Given the description of an element on the screen output the (x, y) to click on. 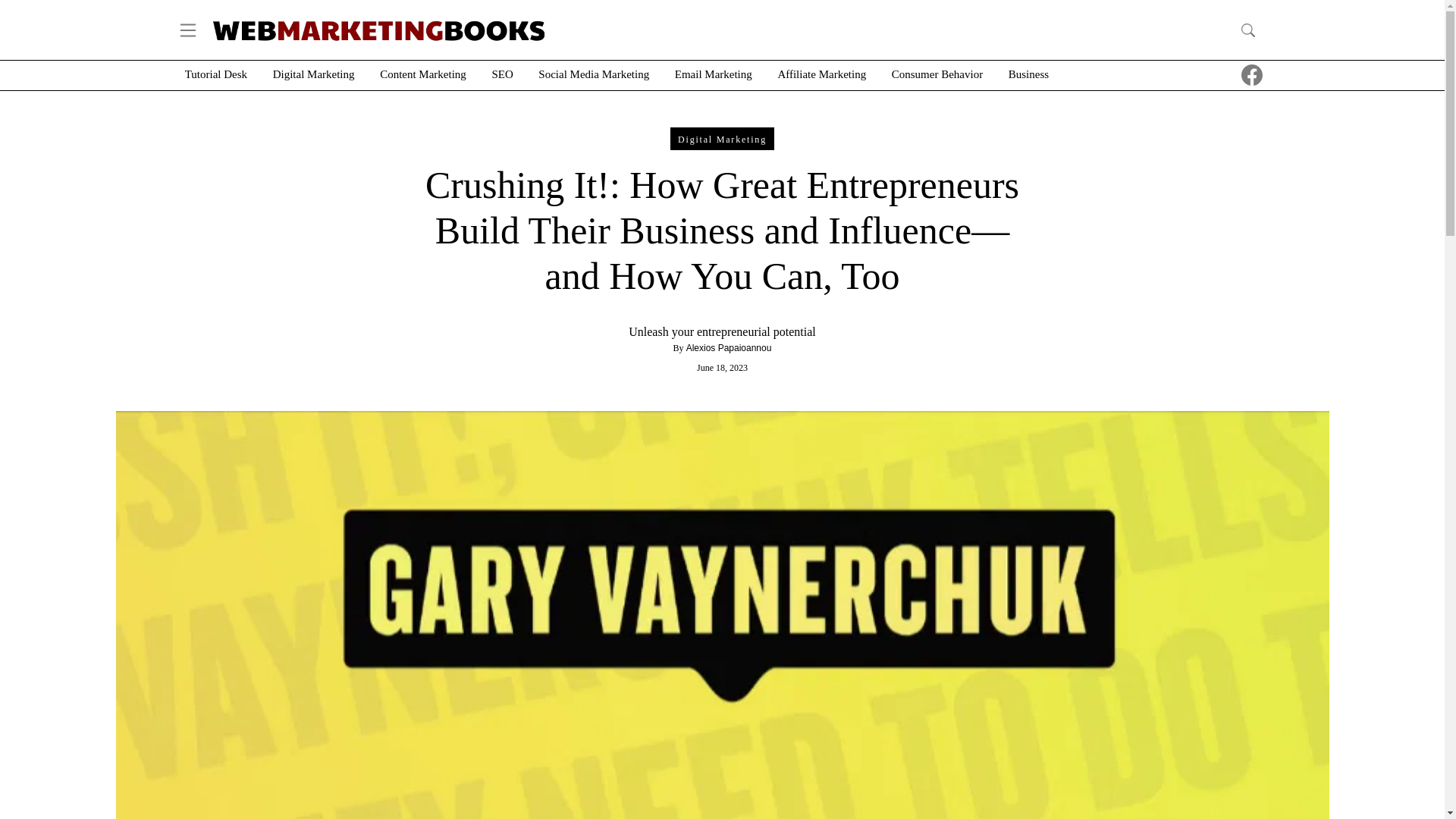
Alexios Papaioannou (728, 347)
Content Marketing (422, 74)
Business (1028, 74)
SEO (502, 74)
Email Marketing (713, 74)
Digital Marketing (314, 74)
Tutorial Desk (215, 74)
Digital Marketing (721, 138)
Affiliate Marketing (821, 74)
Consumer Behavior (936, 74)
Social Media Marketing (593, 74)
